Given the description of an element on the screen output the (x, y) to click on. 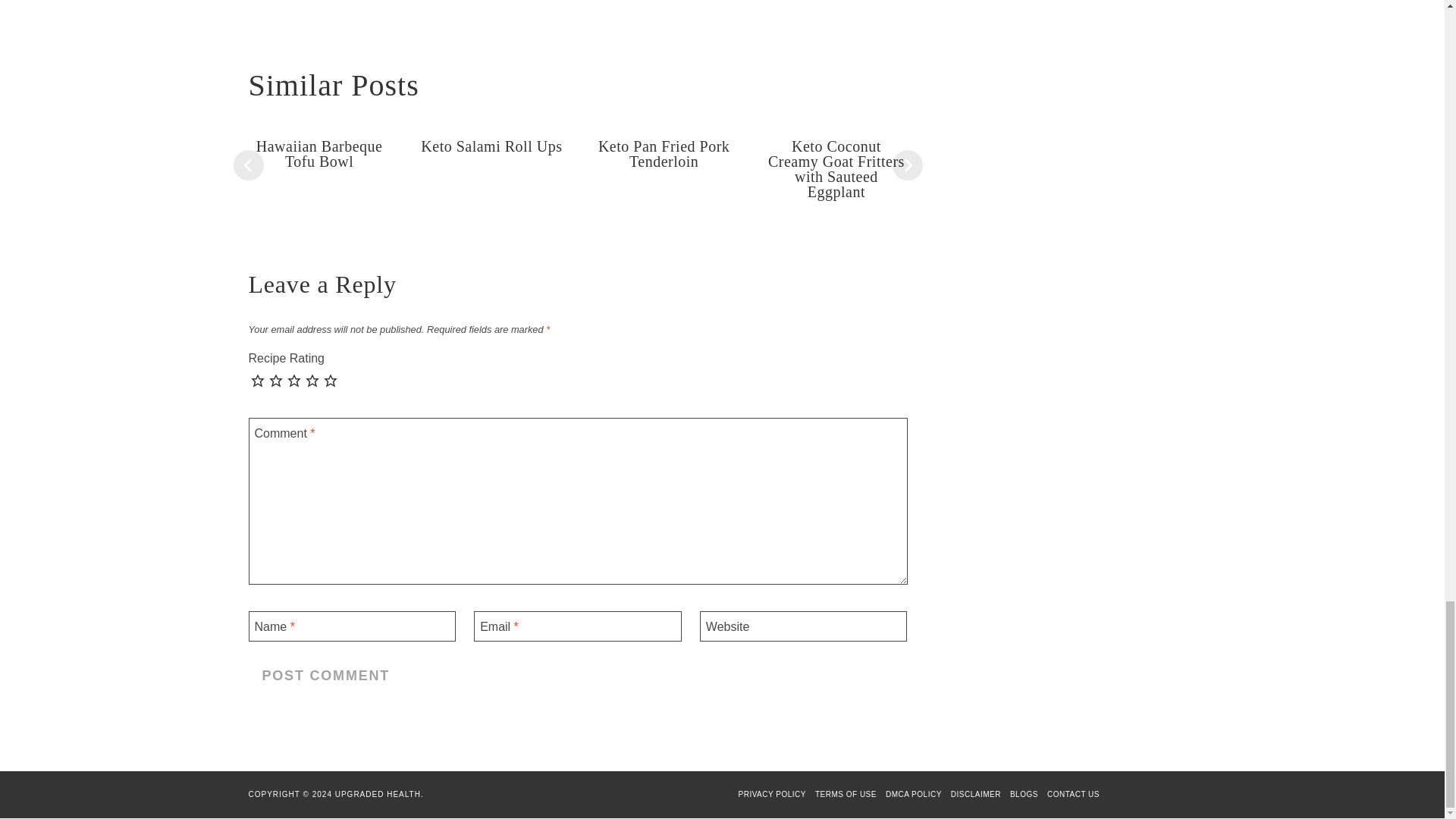
Post Comment (326, 676)
